Given the description of an element on the screen output the (x, y) to click on. 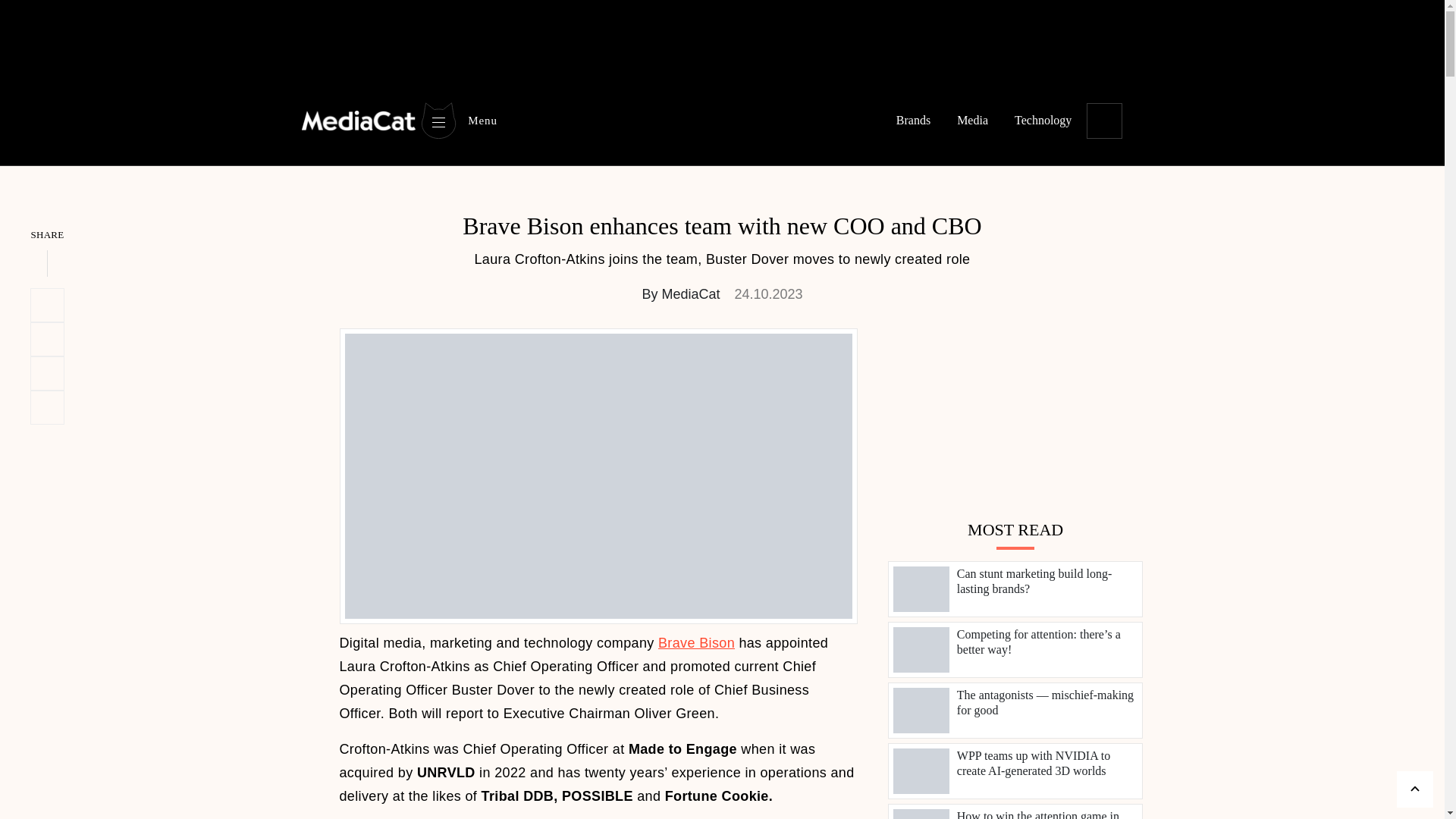
Share via Email! (47, 407)
Menu (457, 120)
Share on Facebook! (47, 373)
Share on LinkedIn! (47, 339)
Tweet this! (47, 305)
